Given the description of an element on the screen output the (x, y) to click on. 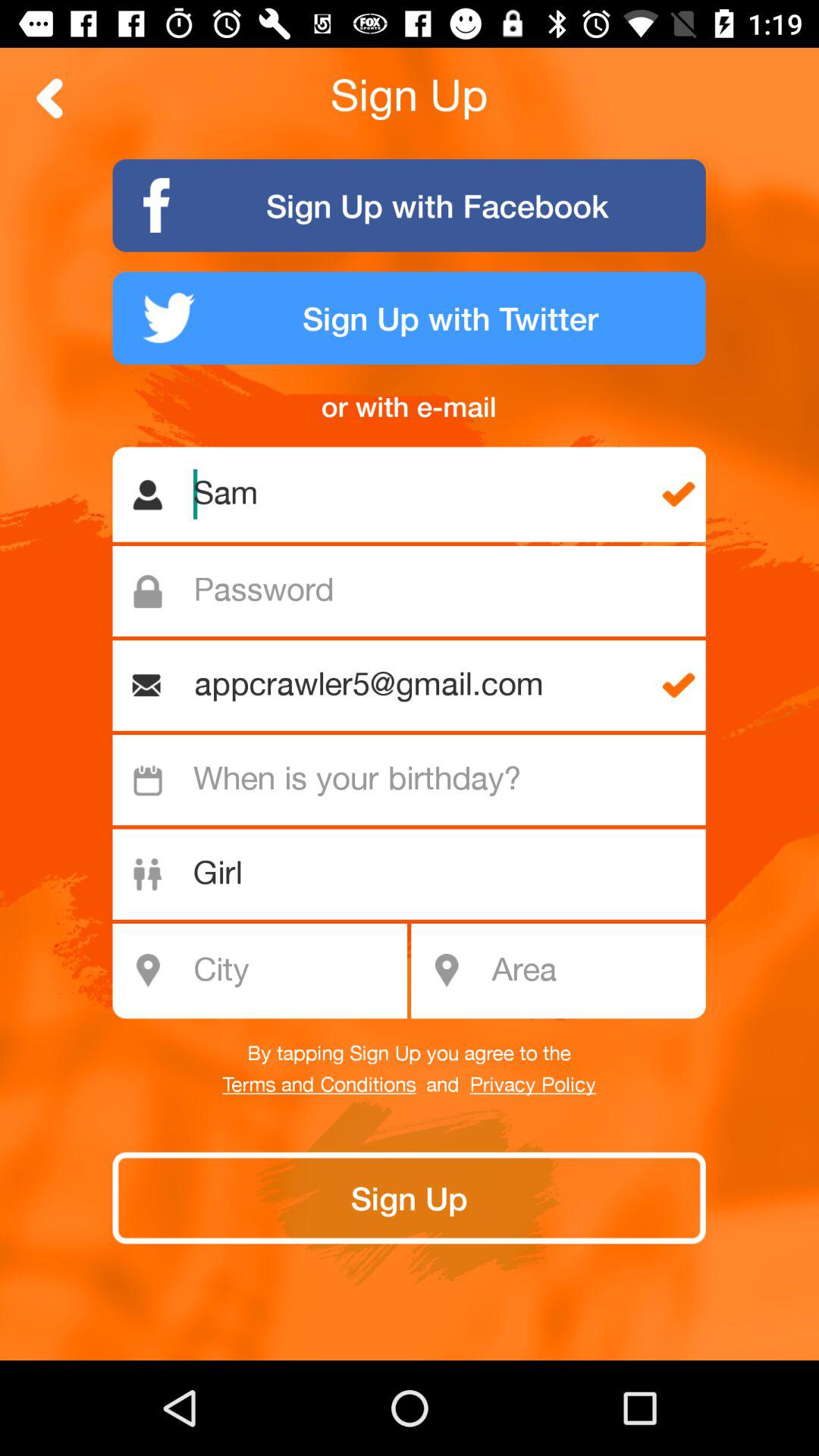
enter birthday option (417, 779)
